Given the description of an element on the screen output the (x, y) to click on. 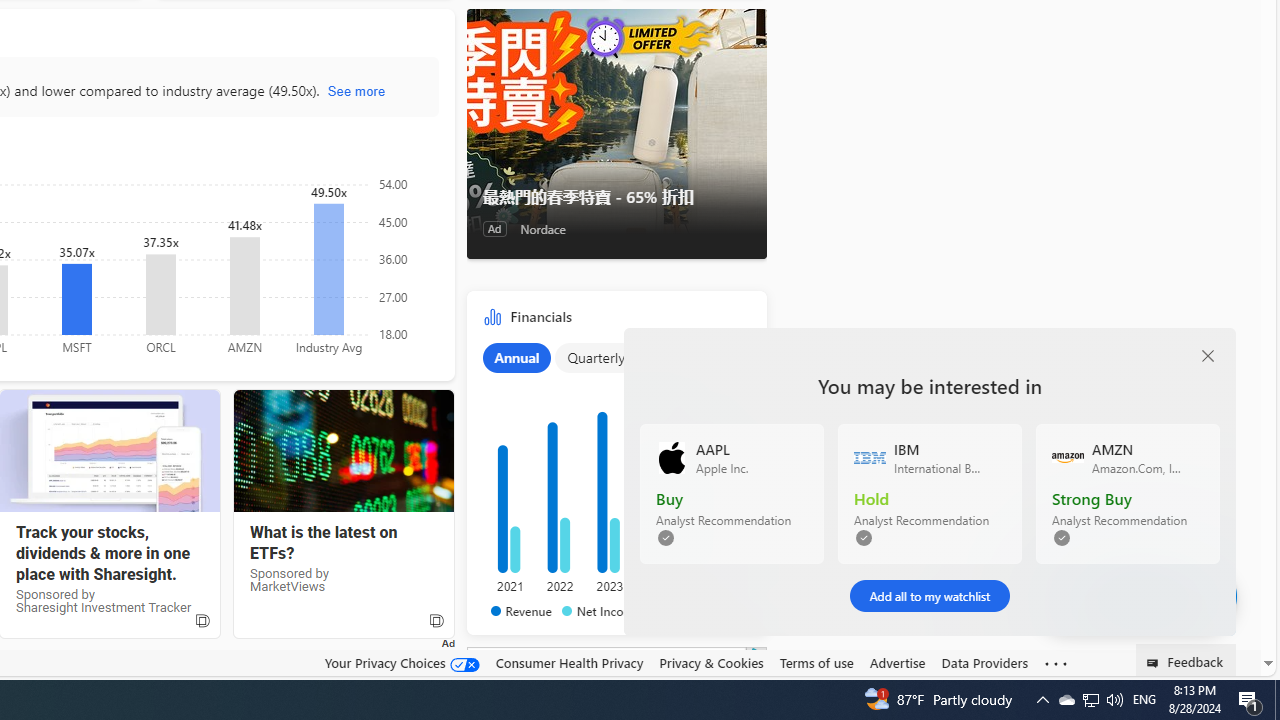
Advertise (897, 663)
Financials (616, 468)
MarketViews (343, 451)
Terms of use (816, 663)
Class: chartSvg (612, 477)
Quarterly (596, 357)
Your Privacy Choices (401, 663)
Advertise (897, 662)
Privacy & Cookies (711, 662)
Annual (516, 357)
Class: qc-adchoices-icon (758, 654)
